Given the description of an element on the screen output the (x, y) to click on. 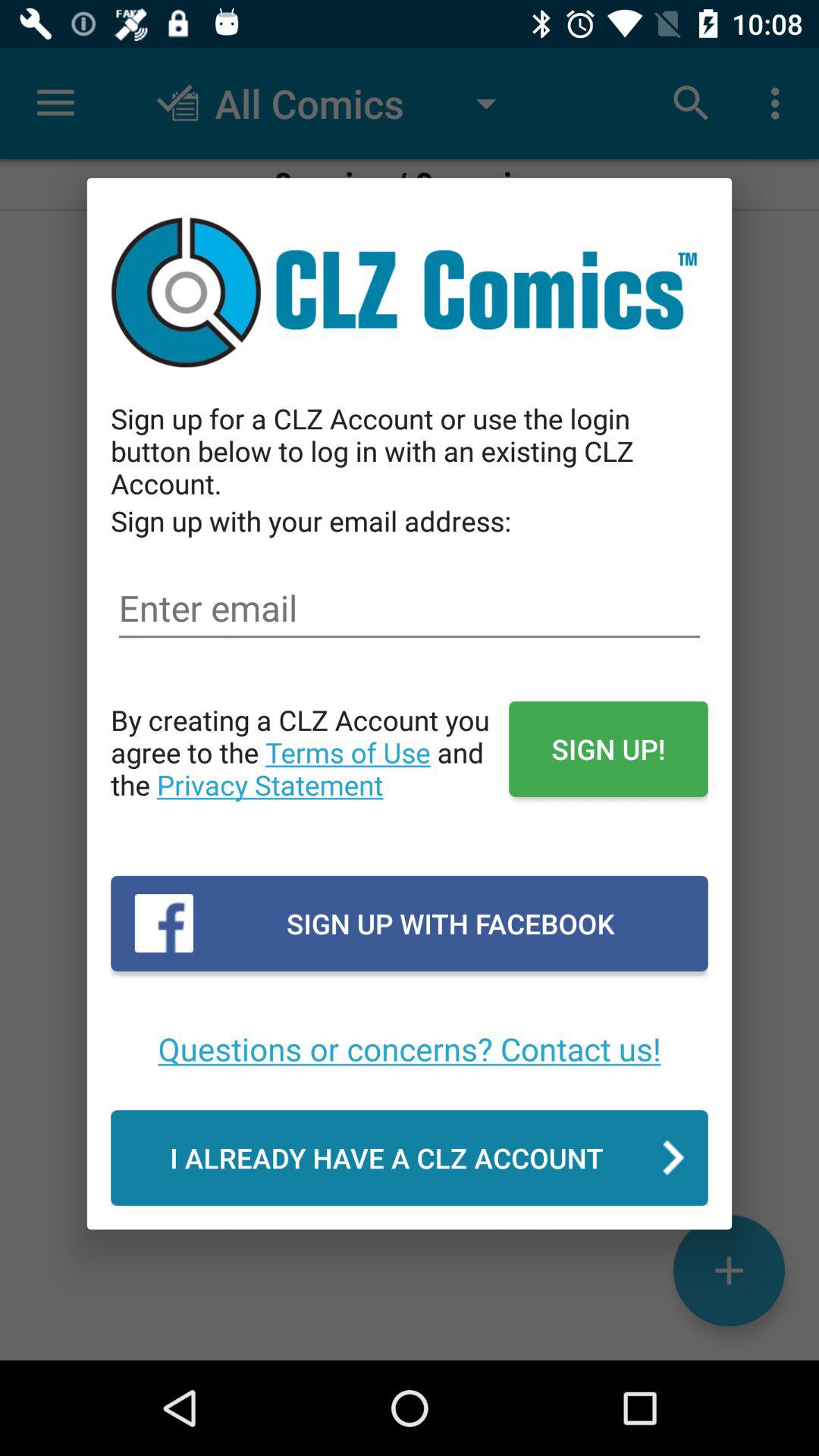
choose the icon above by creating a (409, 608)
